Given the description of an element on the screen output the (x, y) to click on. 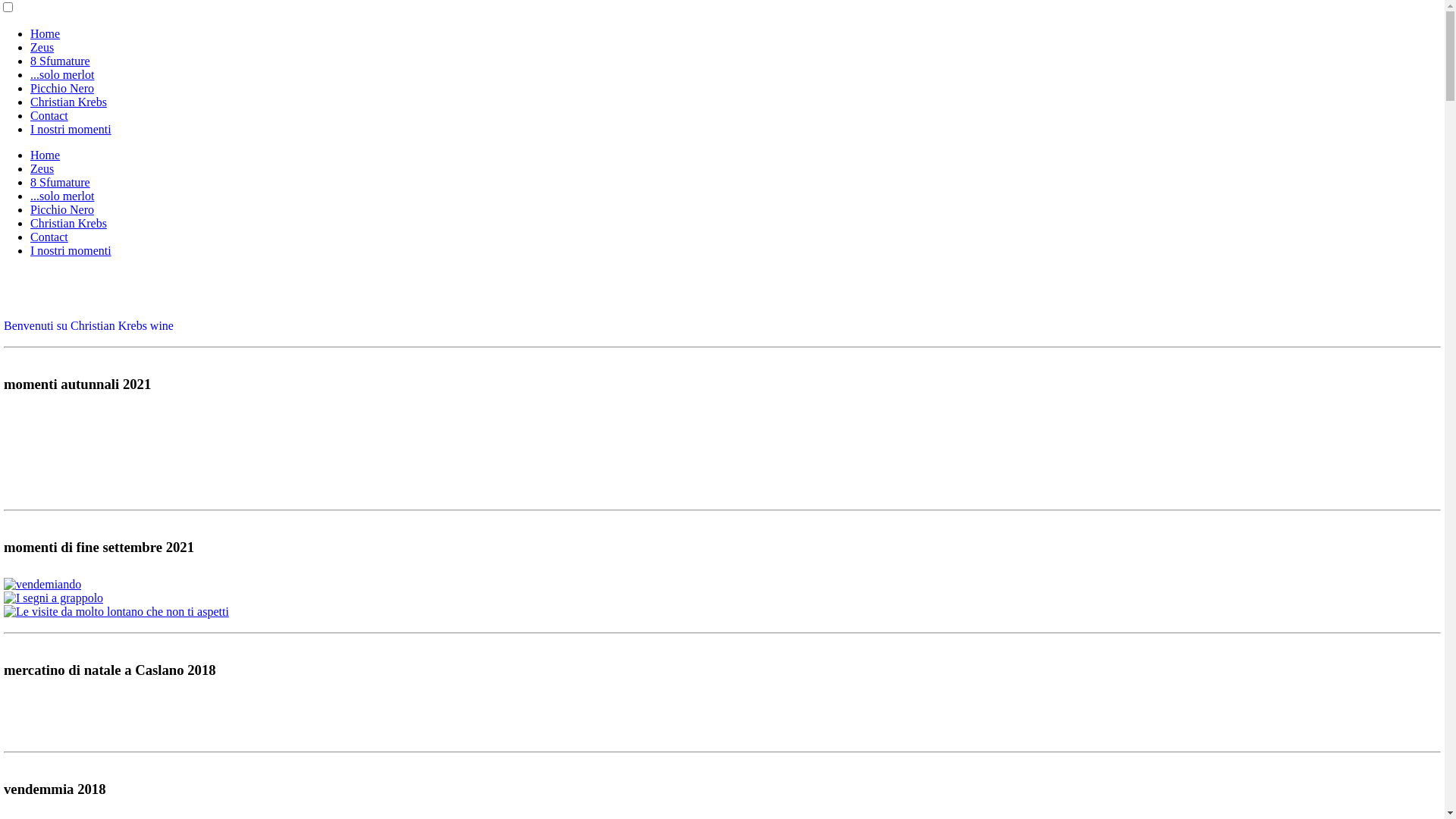
I nostri momenti Element type: text (70, 250)
Zeus Element type: text (41, 168)
Zeus Element type: text (41, 46)
...solo merlot Element type: text (62, 195)
Home Element type: text (44, 33)
I nostri momenti Element type: text (70, 128)
Benvenuti su Christian Krebs wine Element type: text (88, 325)
8 Sfumature Element type: text (60, 181)
Christian Krebs Element type: text (68, 101)
Picchio Nero Element type: text (62, 209)
Picchio Nero Element type: text (62, 87)
Contact Element type: text (49, 115)
Christian Krebs Element type: text (68, 222)
Home Element type: text (44, 154)
...solo merlot Element type: text (62, 74)
8 Sfumature Element type: text (60, 60)
Contact Element type: text (49, 236)
